Given the description of an element on the screen output the (x, y) to click on. 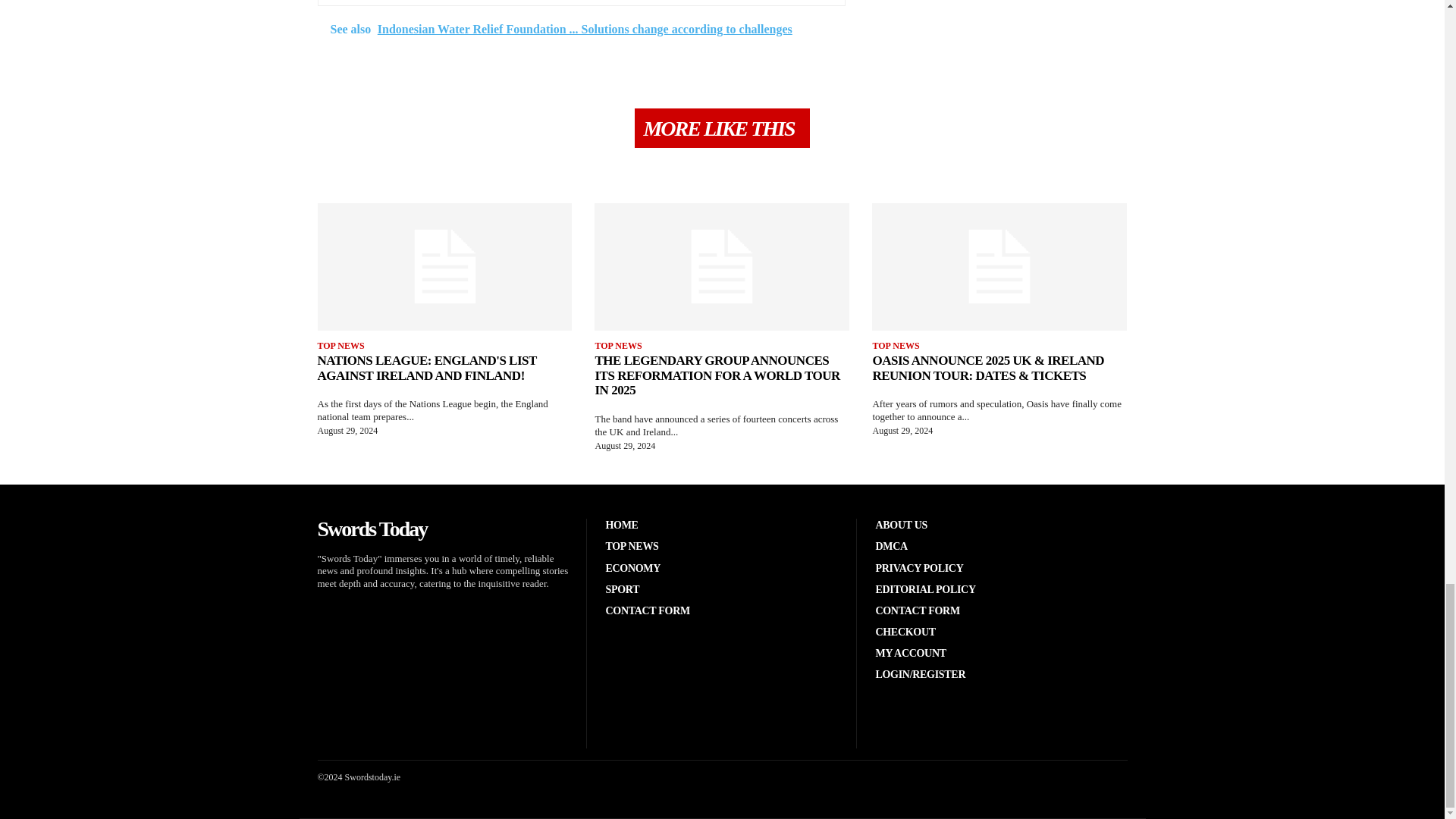
Nations League: England's list against Ireland and Finland! (444, 266)
Nations League: England's list against Ireland and Finland! (426, 367)
